Given the description of an element on the screen output the (x, y) to click on. 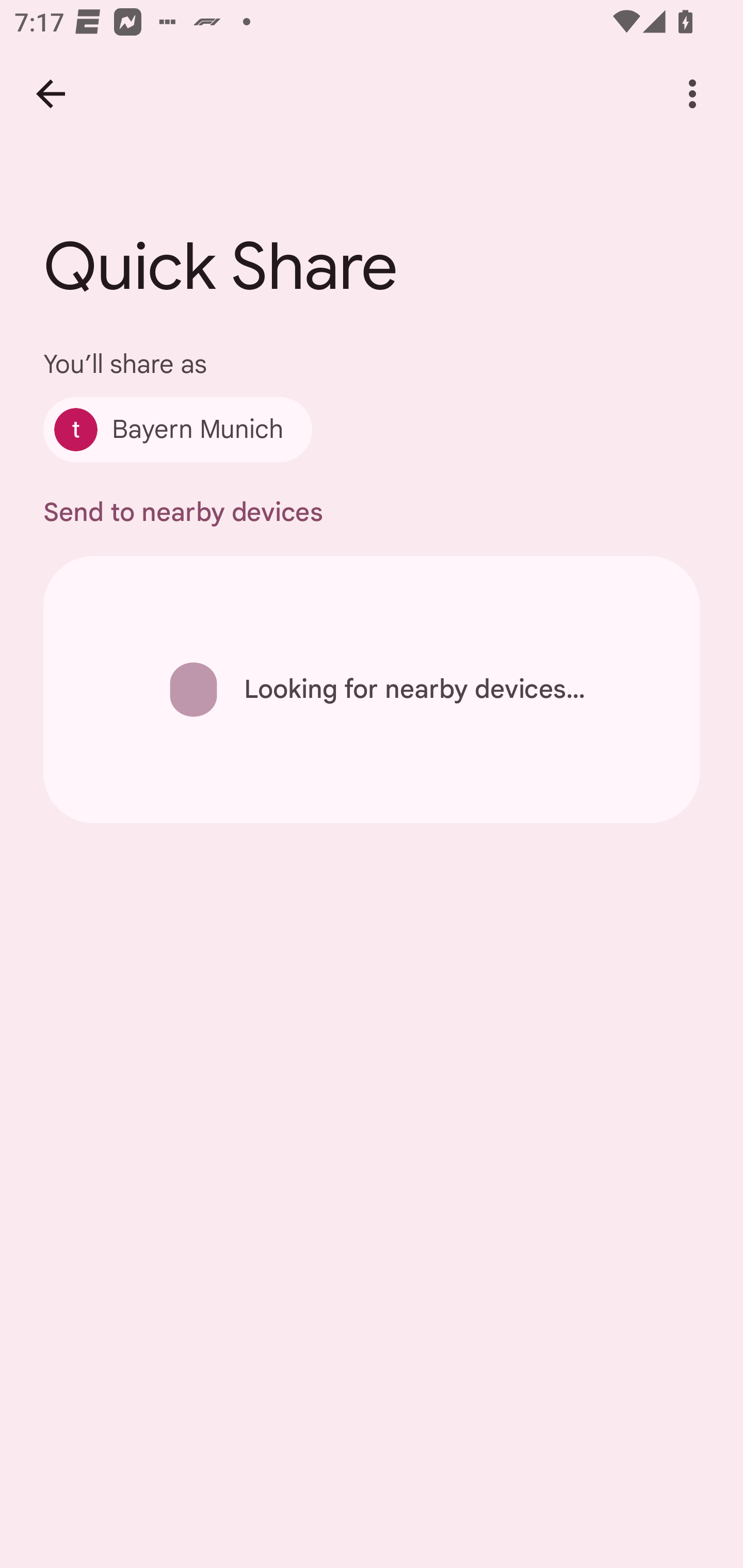
Back (50, 93)
More (692, 93)
Bayern Munich (177, 429)
